Given the description of an element on the screen output the (x, y) to click on. 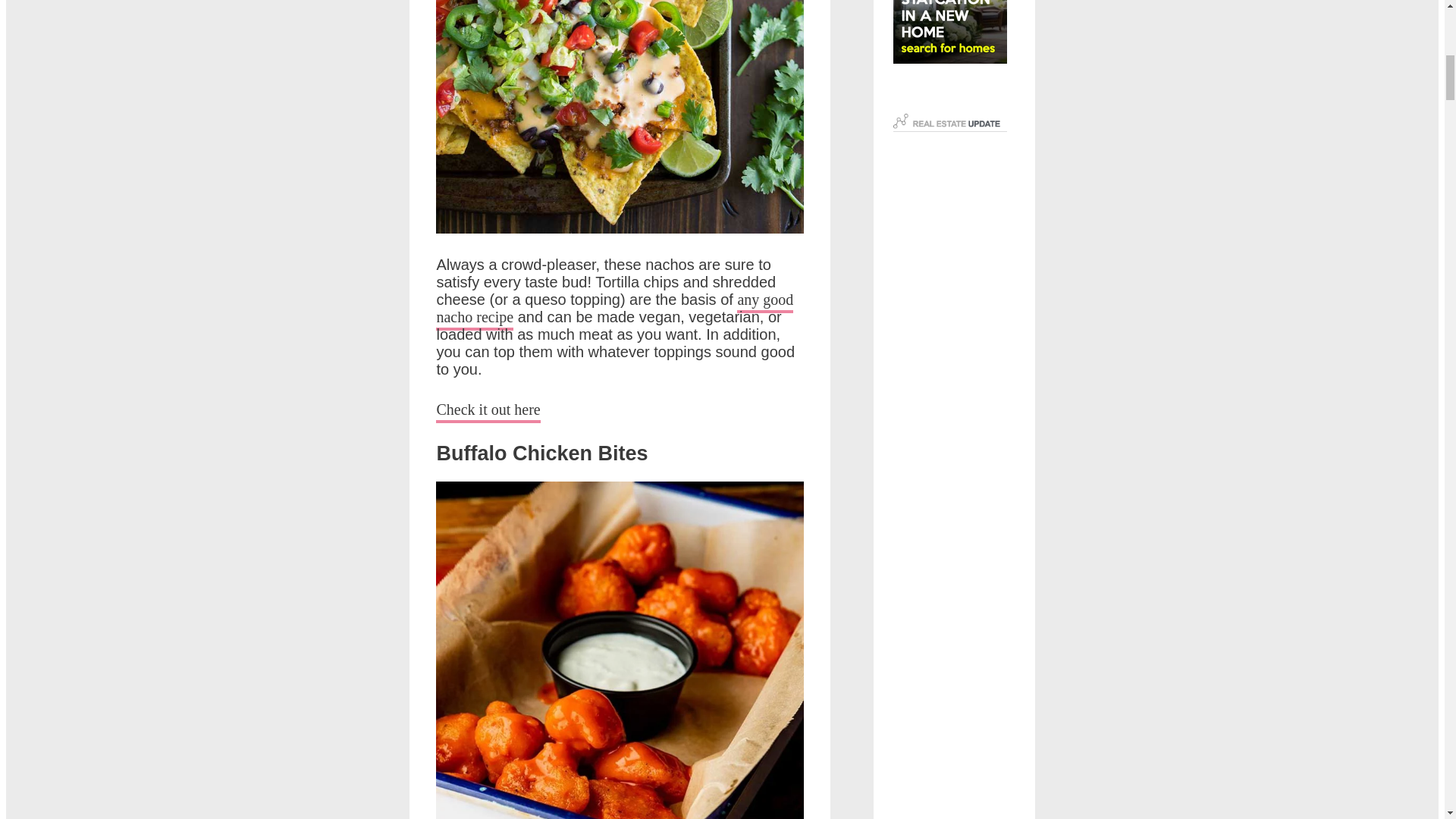
Check it out here (487, 412)
any good nacho recipe (614, 310)
